Given the description of an element on the screen output the (x, y) to click on. 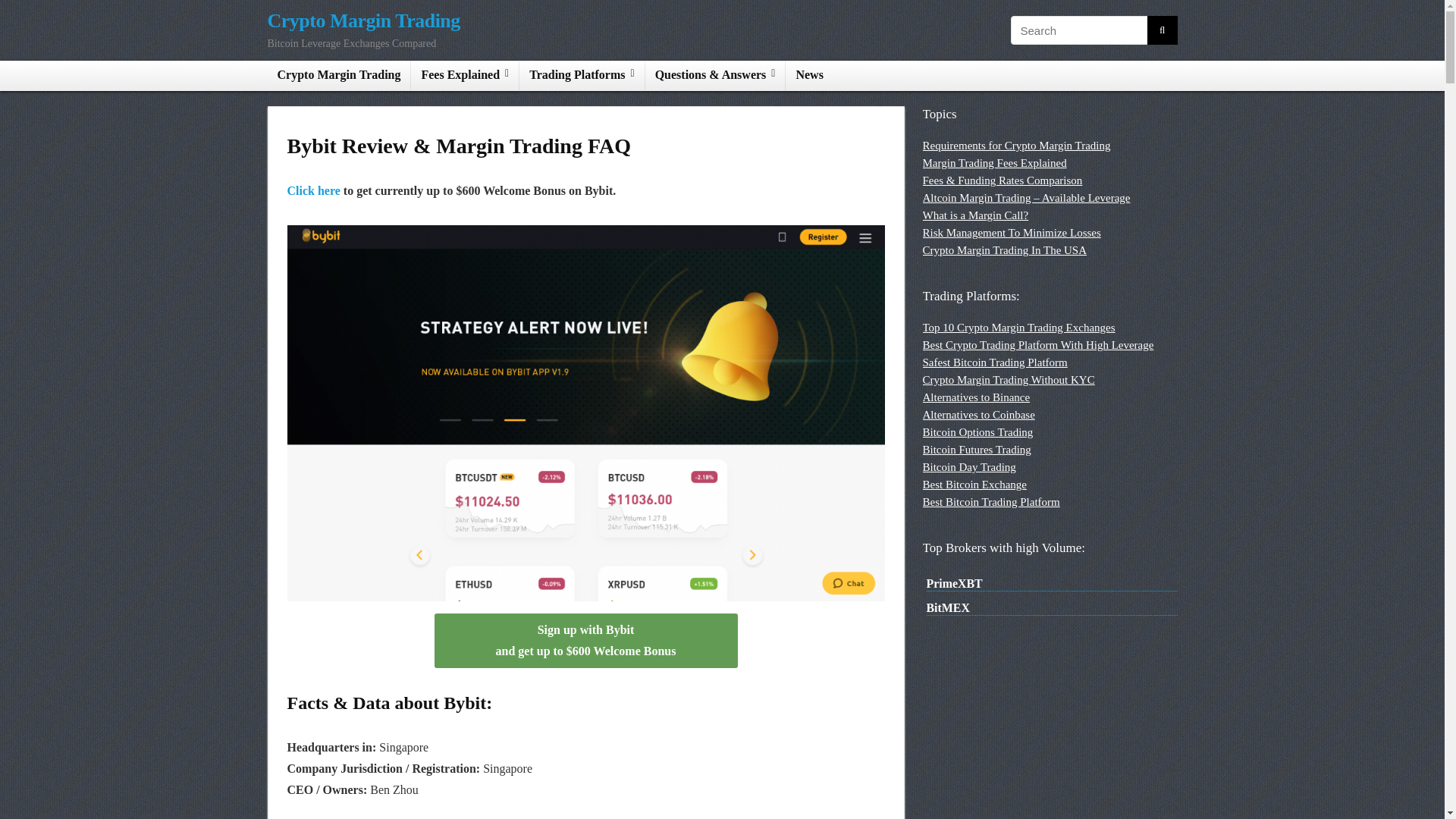
Fees Explained (464, 75)
Crypto Margin Trading (338, 75)
Trading Platforms (581, 75)
News (809, 75)
